Given the description of an element on the screen output the (x, y) to click on. 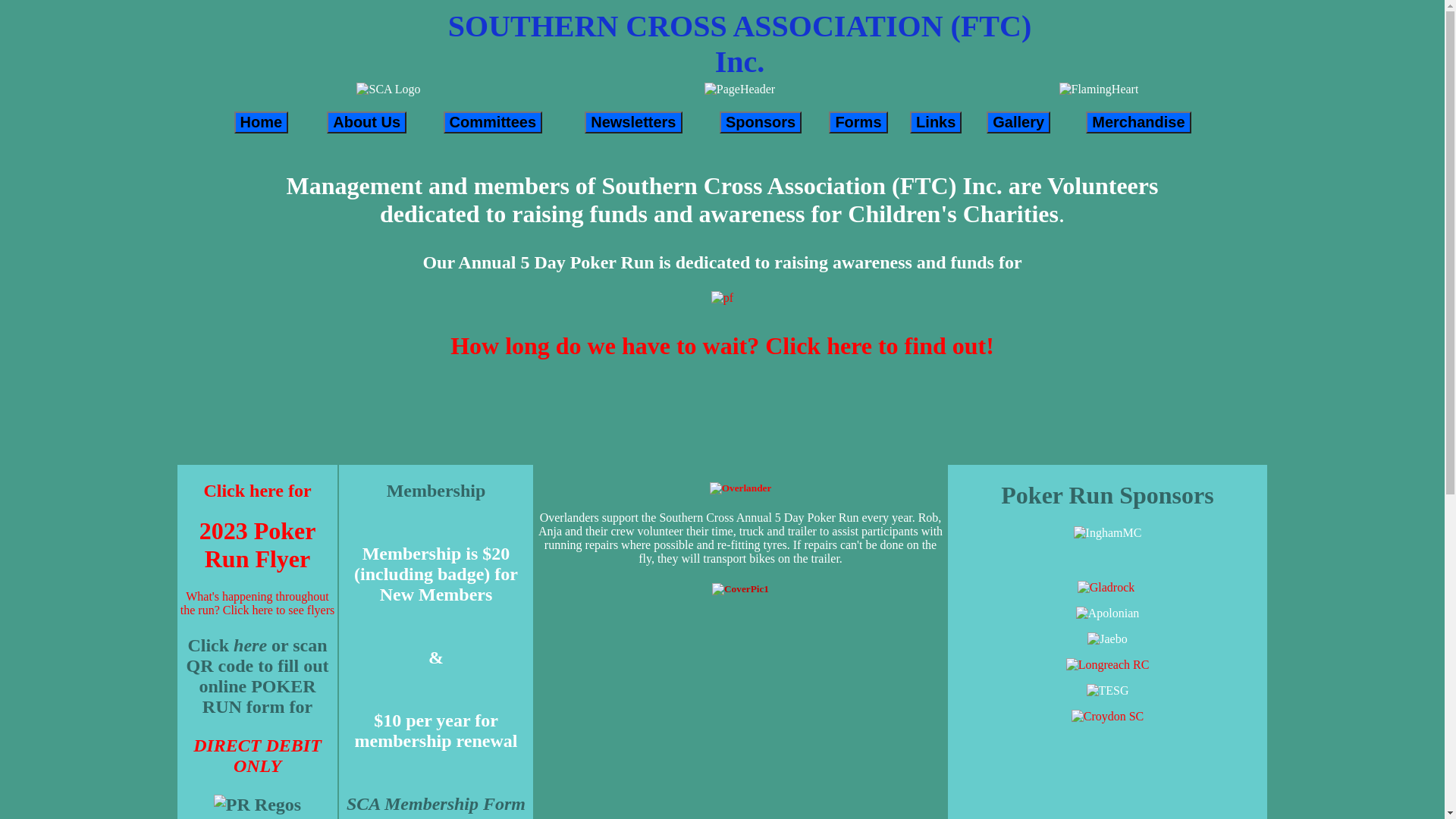
How long do we have to wait? Click here to find out! Element type: text (722, 345)
Sponsors Element type: text (760, 121)
Merchandise Element type: text (1137, 121)
Click here for Element type: text (256, 490)
Forms Element type: text (857, 121)
DIRECT DEBIT ONLY Element type: text (257, 755)
Links Element type: text (935, 121)
Gallery Element type: text (1018, 121)
Home Element type: text (260, 121)
Newsletters Element type: text (632, 121)
About Us Element type: text (366, 121)
here Element type: text (250, 645)
Committees Element type: text (492, 121)
2023 Poker Run Flyer Element type: text (257, 544)
